Given the description of an element on the screen output the (x, y) to click on. 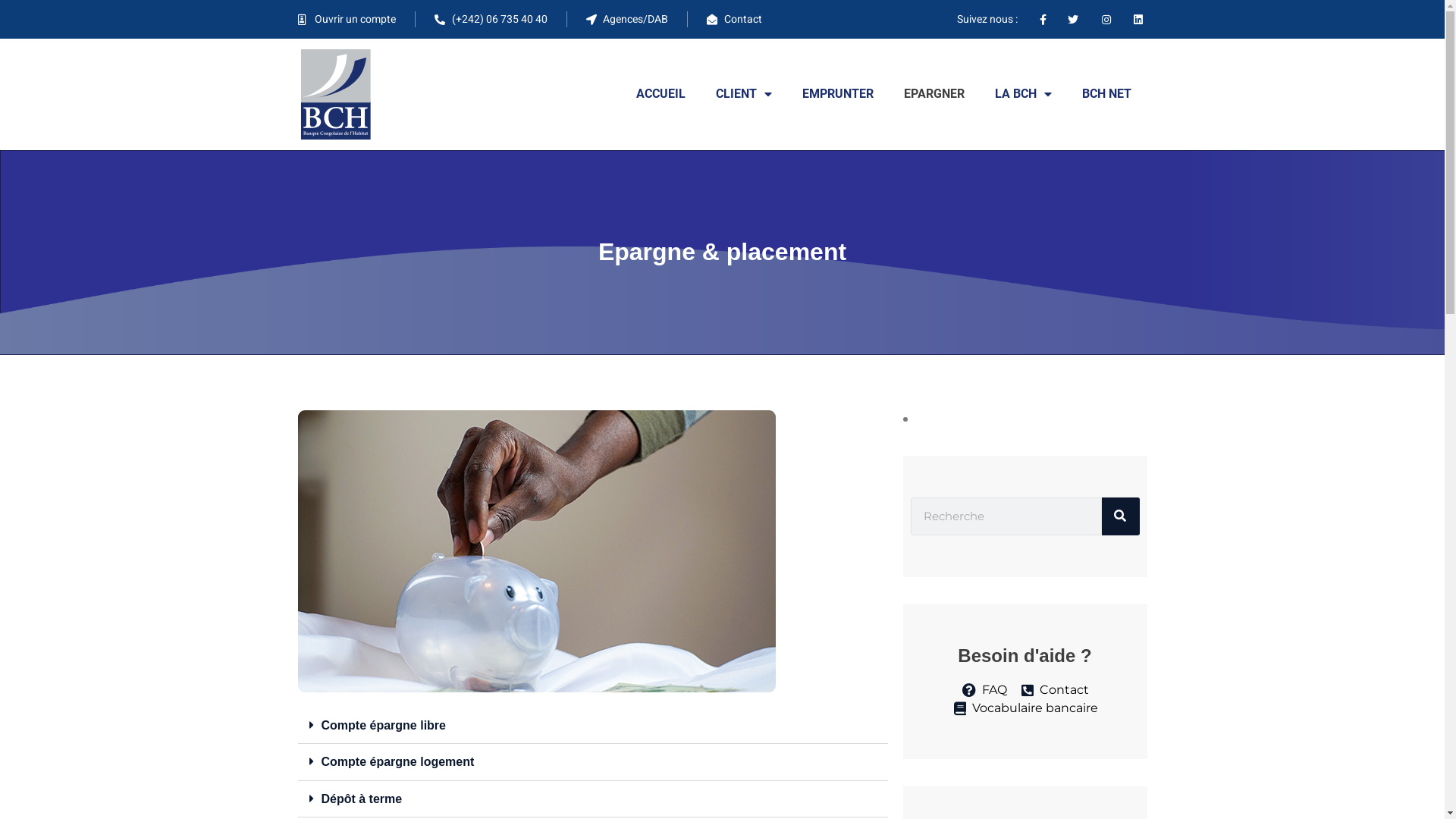
EPARGNER Element type: text (933, 93)
CLIENT Element type: text (743, 93)
LA BCH Element type: text (1022, 93)
FAQ Element type: text (983, 689)
Contact Element type: text (734, 19)
Ouvrir un compte Element type: text (346, 19)
ACCUEIL Element type: text (660, 93)
Vocabulaire bancaire Element type: text (1024, 708)
Contact Element type: text (1054, 689)
EMPRUNTER Element type: text (837, 93)
Agences/DAB Element type: text (626, 19)
BCH NET Element type: text (1106, 93)
